Given the description of an element on the screen output the (x, y) to click on. 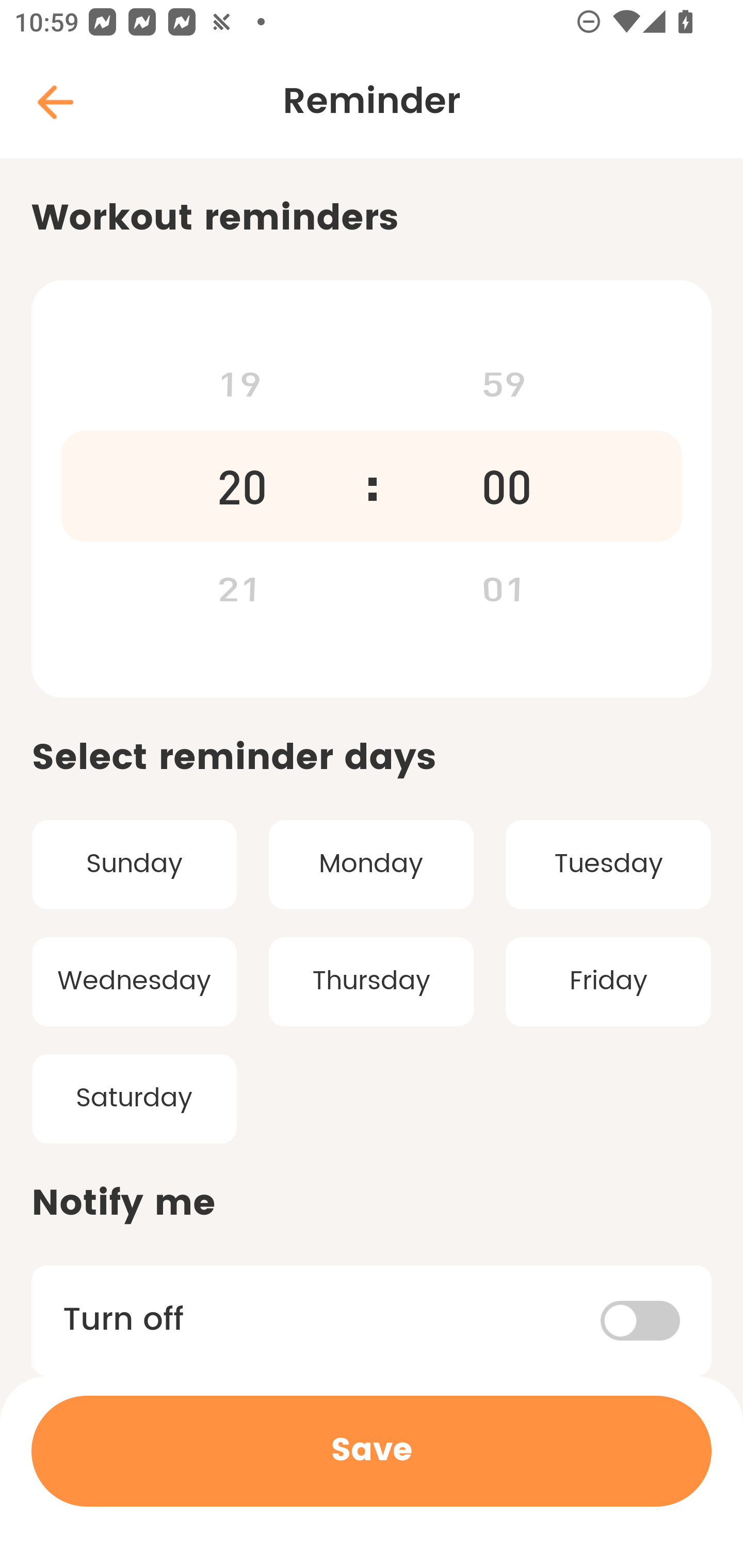
Sunday (134, 864)
Monday (371, 864)
Tuesday (608, 864)
Wednesday (134, 982)
Thursday (371, 982)
Friday (608, 982)
Saturday (134, 1098)
Save (371, 1450)
